Given the description of an element on the screen output the (x, y) to click on. 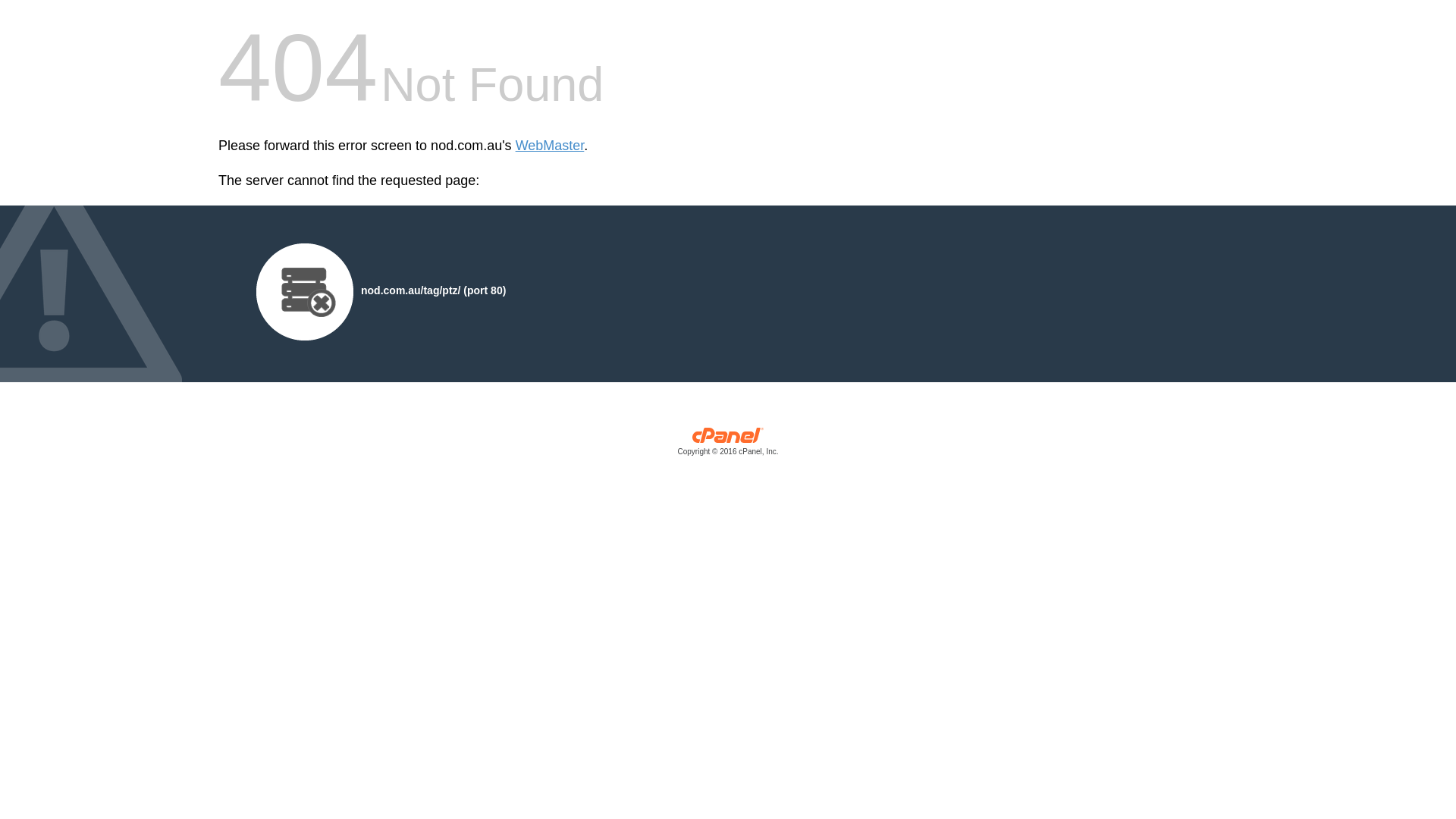
WebMaster Element type: text (549, 145)
